Given the description of an element on the screen output the (x, y) to click on. 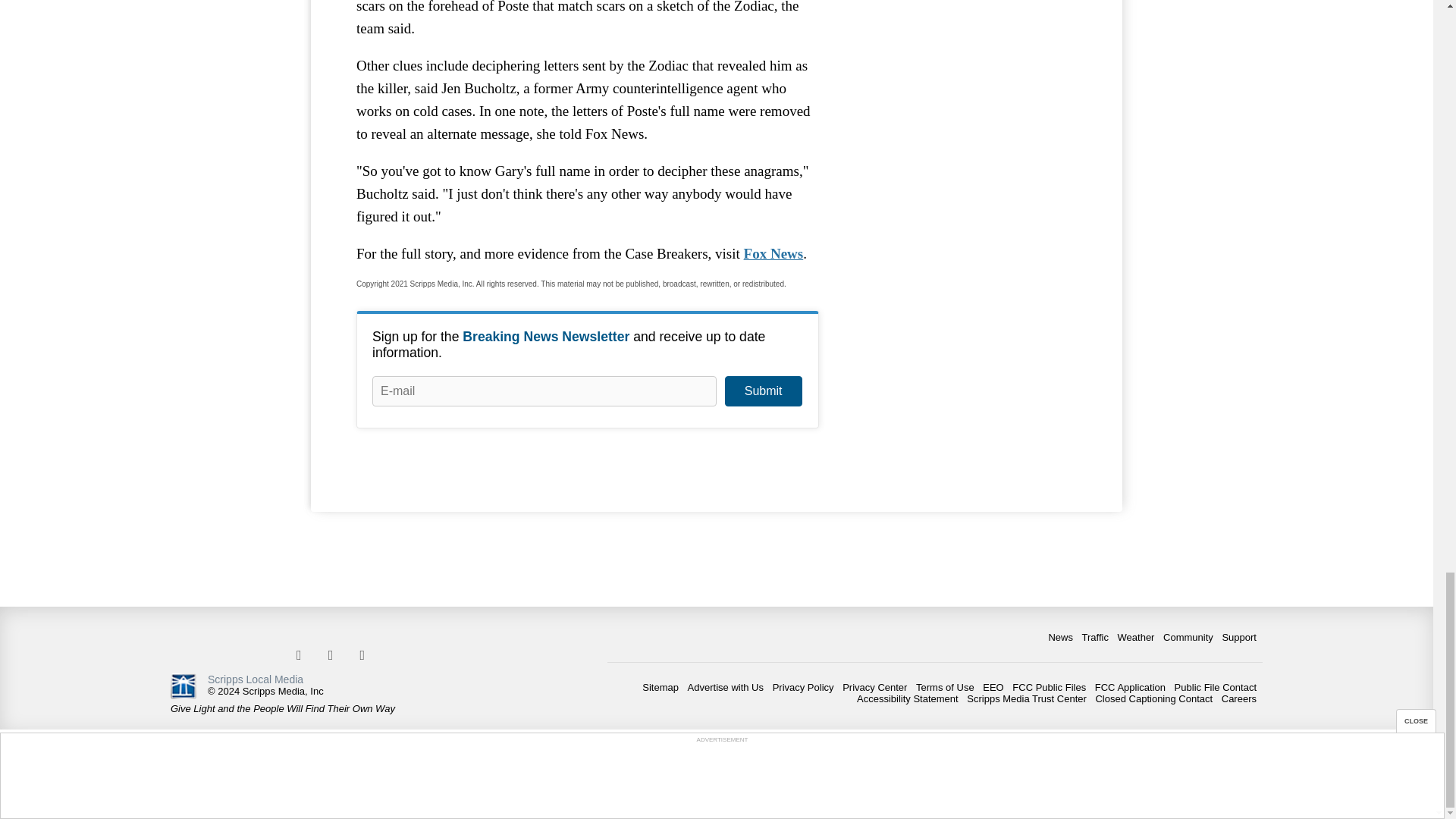
Submit (763, 390)
